Given the description of an element on the screen output the (x, y) to click on. 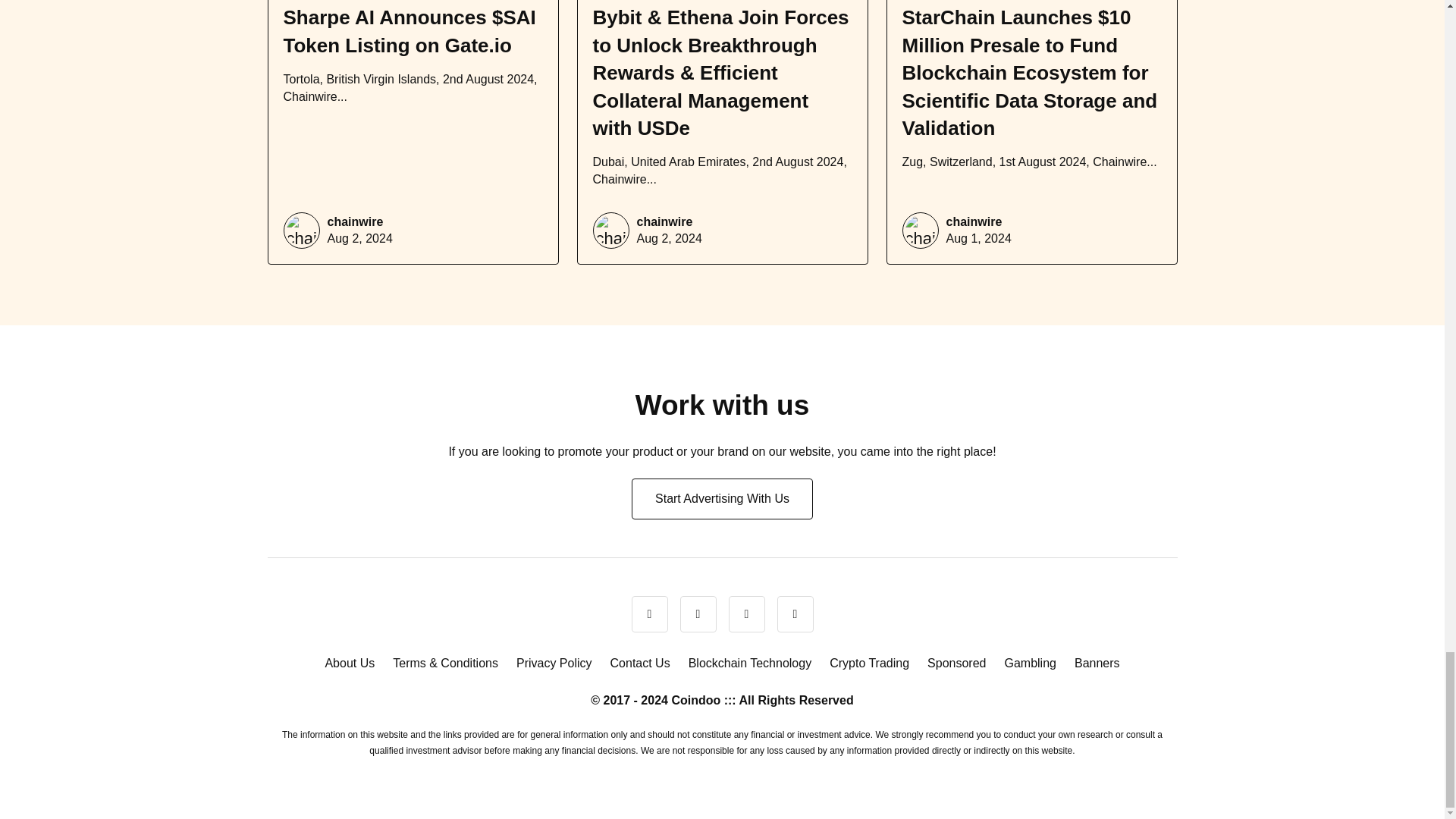
chainwire (355, 221)
chainwire (665, 221)
